Given the description of an element on the screen output the (x, y) to click on. 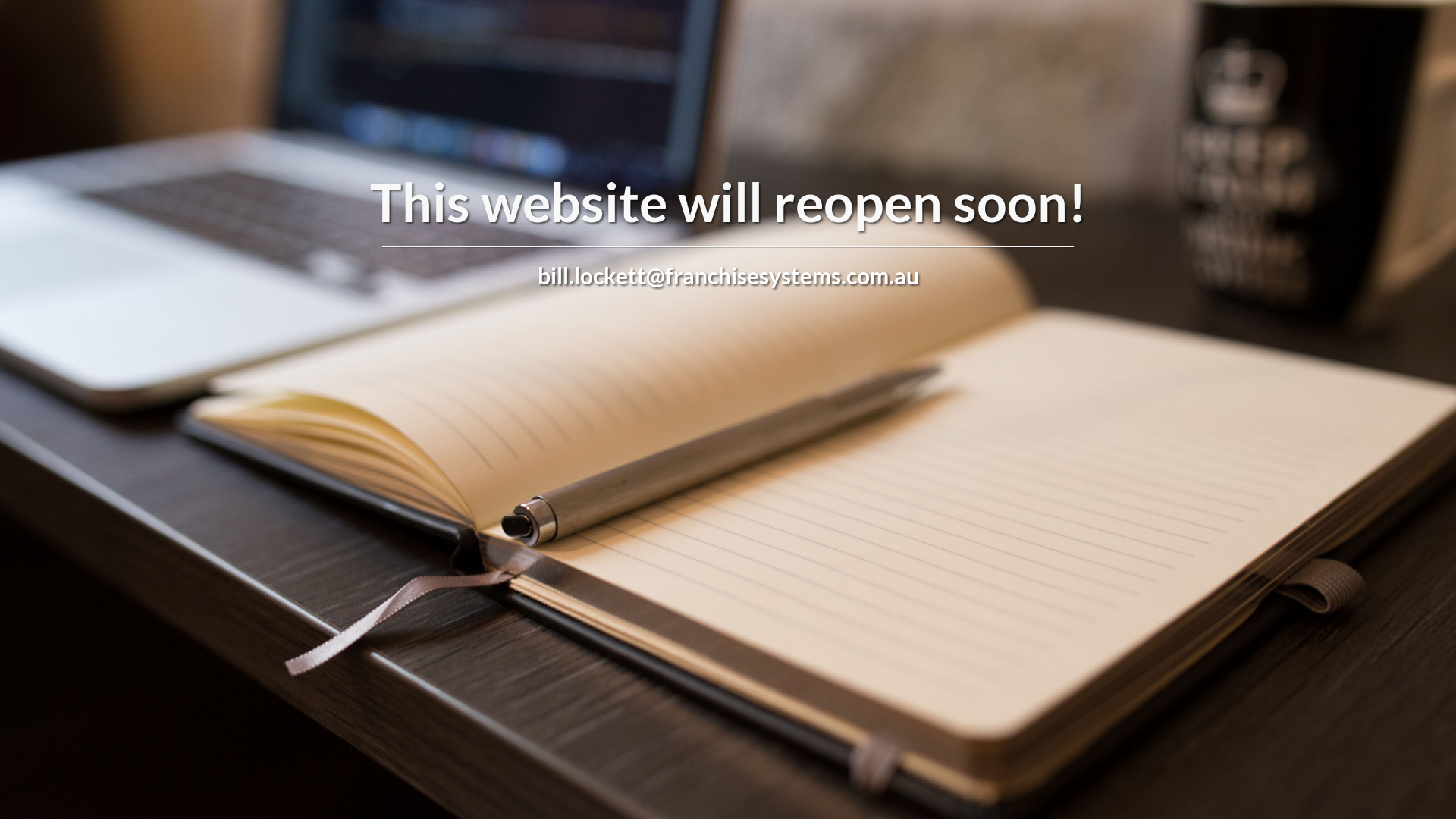
bill.lockett@franchisesystems.com.au Element type: text (727, 274)
